Given the description of an element on the screen output the (x, y) to click on. 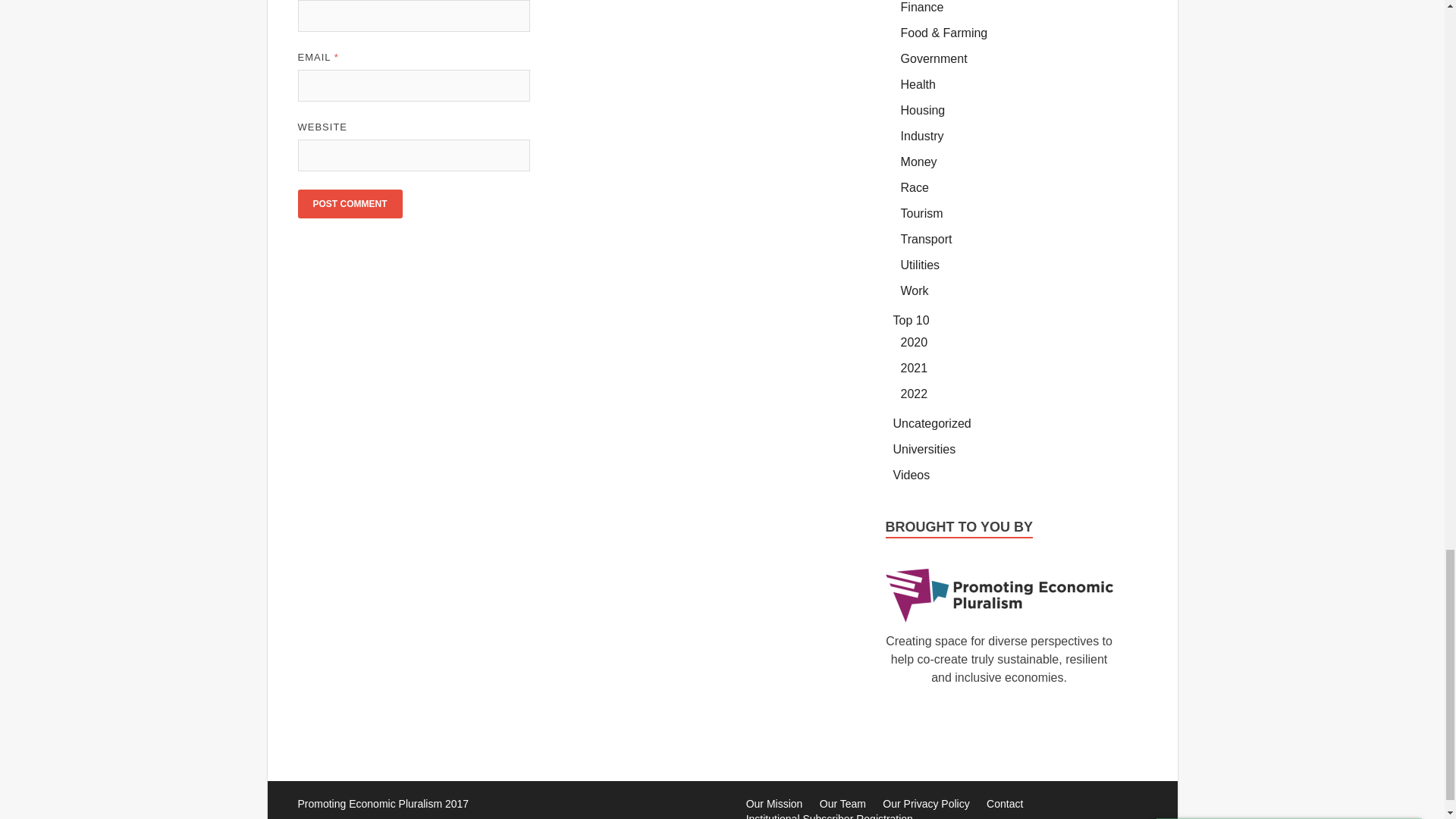
Brought to you by (999, 595)
Post Comment (349, 203)
